Given the description of an element on the screen output the (x, y) to click on. 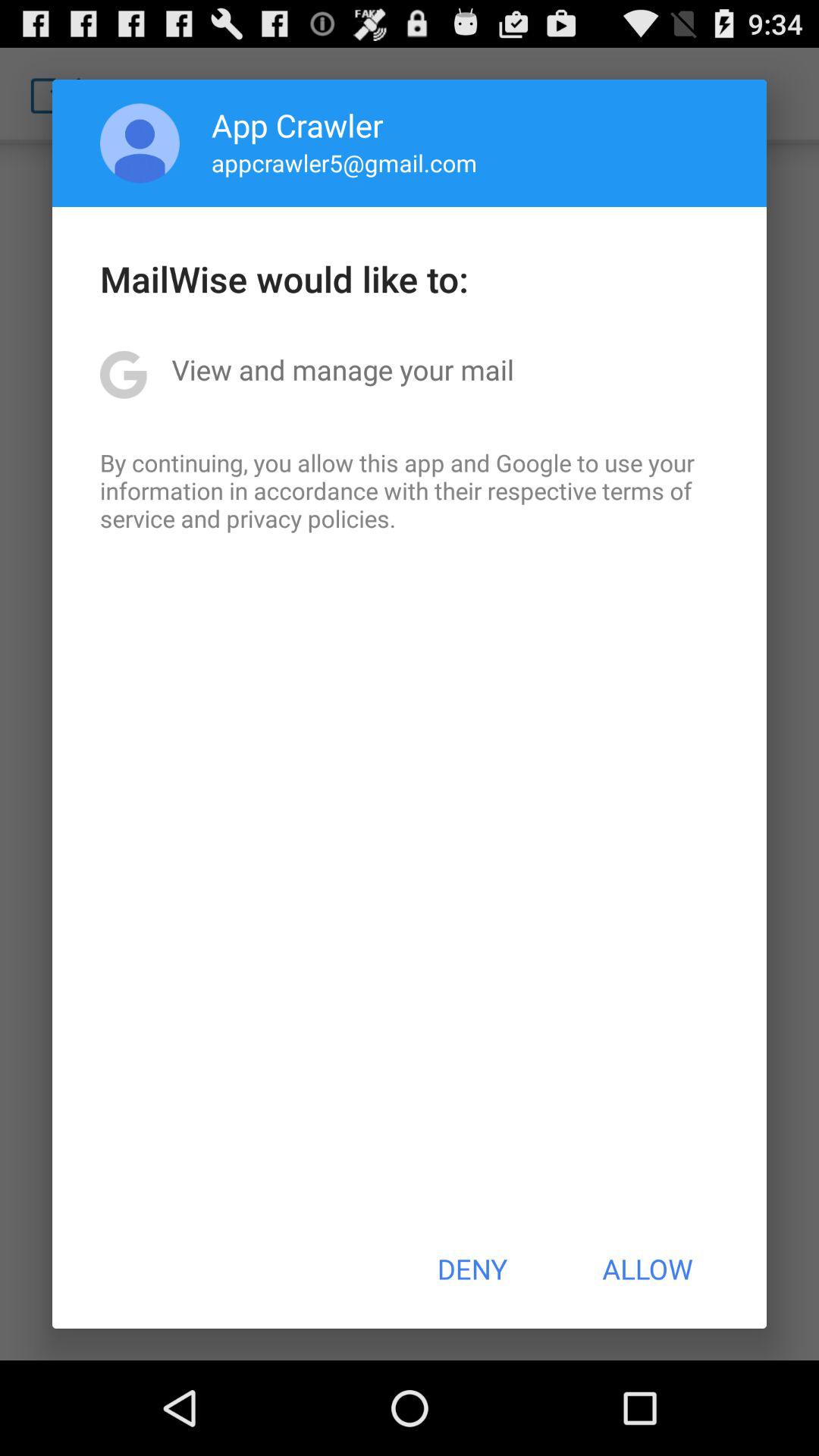
swipe until appcrawler5@gmail.com (344, 162)
